Given the description of an element on the screen output the (x, y) to click on. 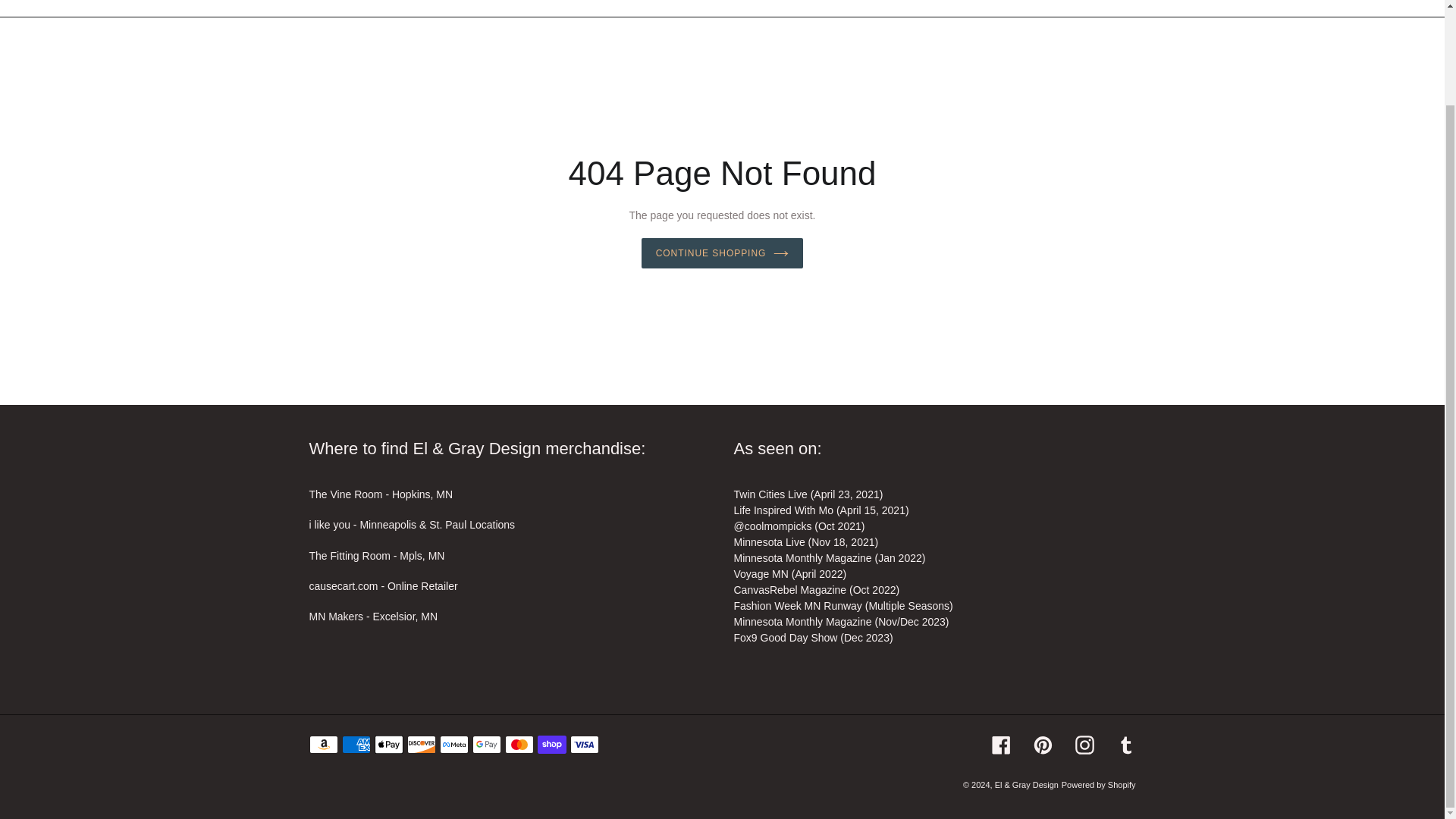
Instagram (1084, 744)
Tumblr (1125, 744)
Pinterest (1041, 744)
Facebook (1000, 744)
CONTINUE SHOPPING (722, 253)
